Given the description of an element on the screen output the (x, y) to click on. 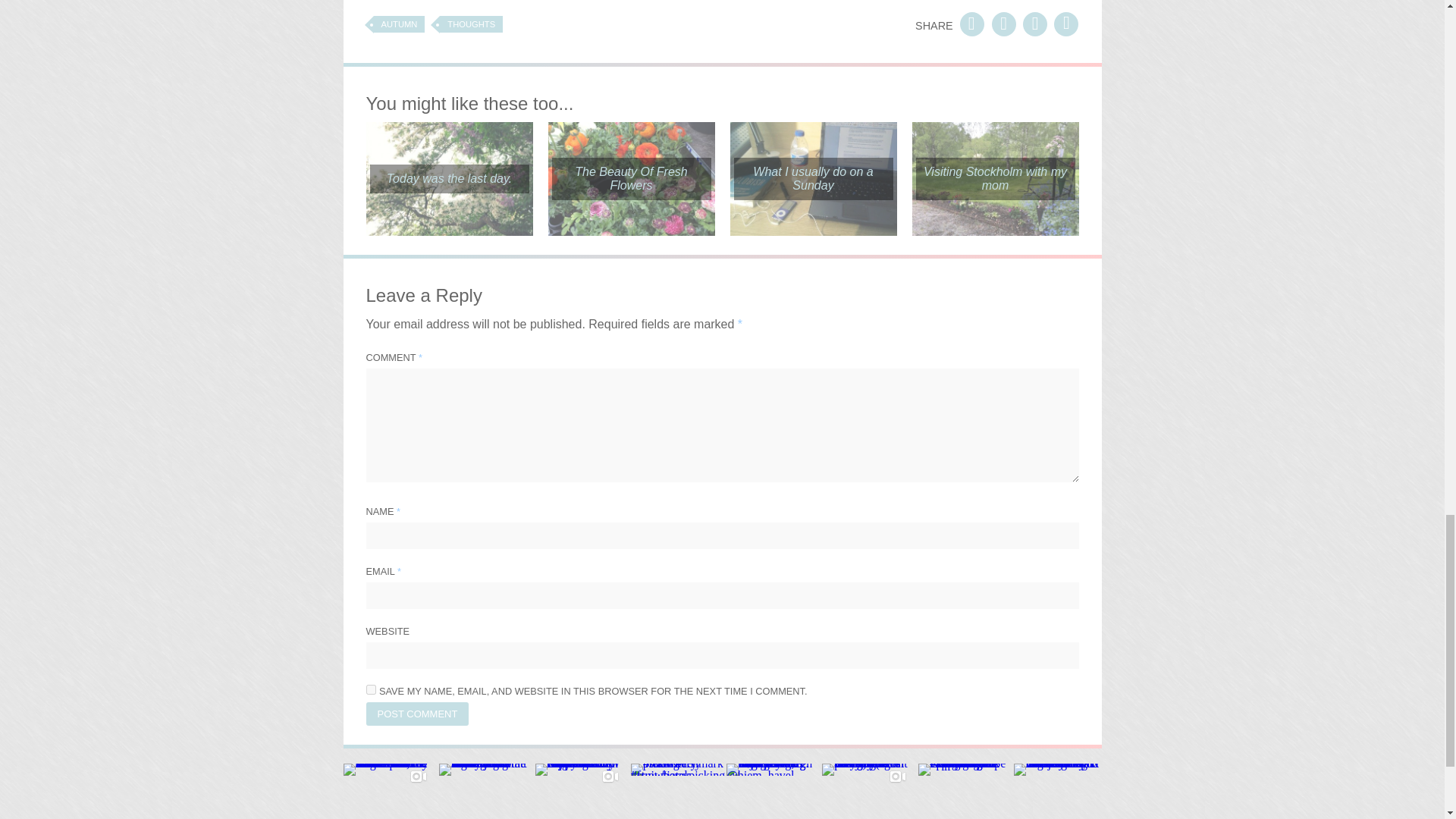
Post Comment (416, 713)
yes (370, 689)
The Beauty Of Fresh Flowers (631, 178)
Today was the last day. (449, 178)
Facebook (971, 23)
Twitter (1066, 23)
Twitter (1034, 23)
THOUGHTS (470, 23)
AUTUMN (398, 23)
